Given the description of an element on the screen output the (x, y) to click on. 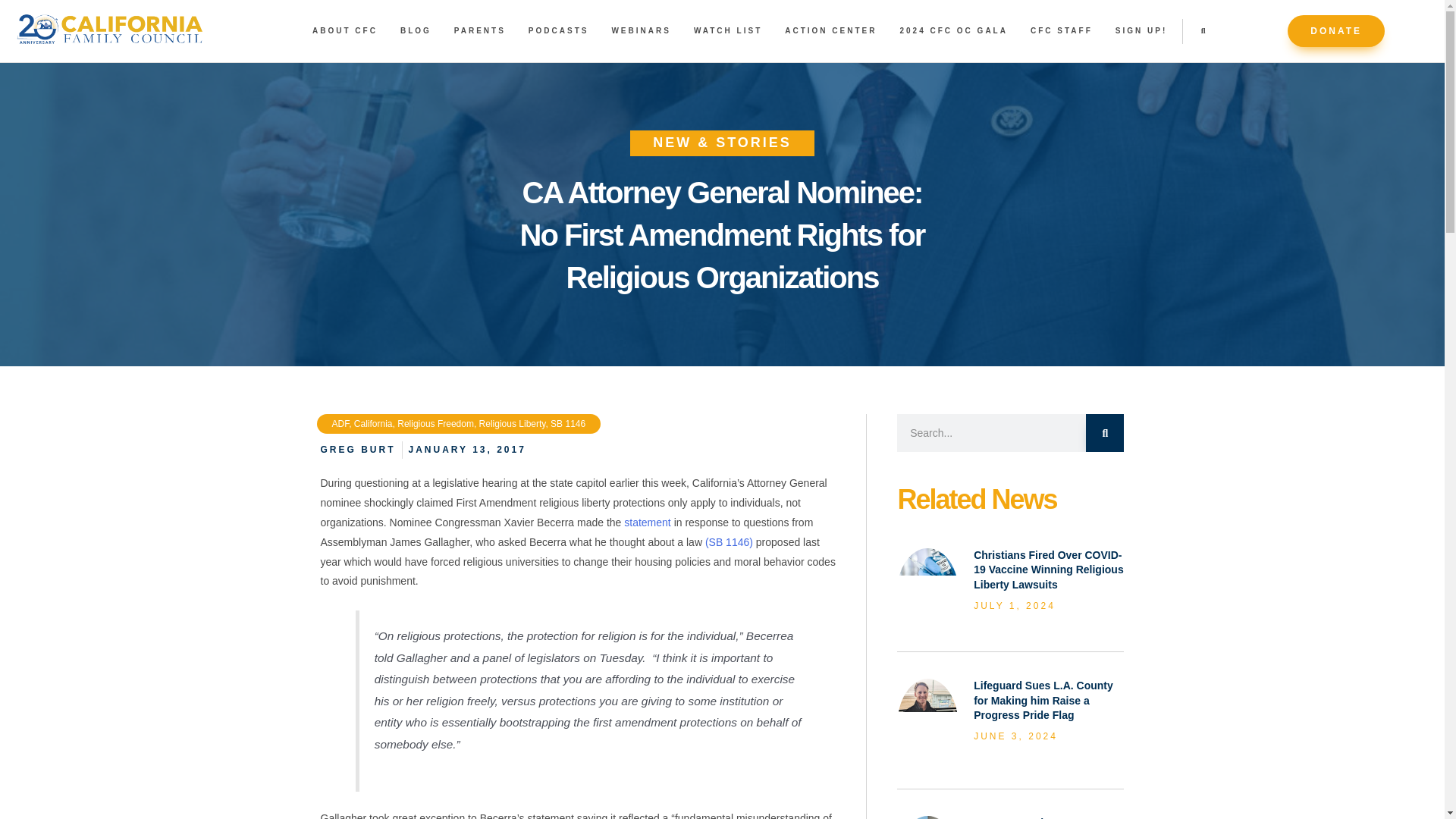
jeffrey little - California Family Council (927, 694)
PODCASTS (557, 30)
ADF (340, 423)
GREG BURT (357, 449)
PARENTS (479, 30)
D4-COVID-vaccine - California Family Council (927, 561)
WEBINARS (640, 30)
ABOUT CFC (344, 30)
statement (646, 522)
DONATE (1335, 30)
